Given the description of an element on the screen output the (x, y) to click on. 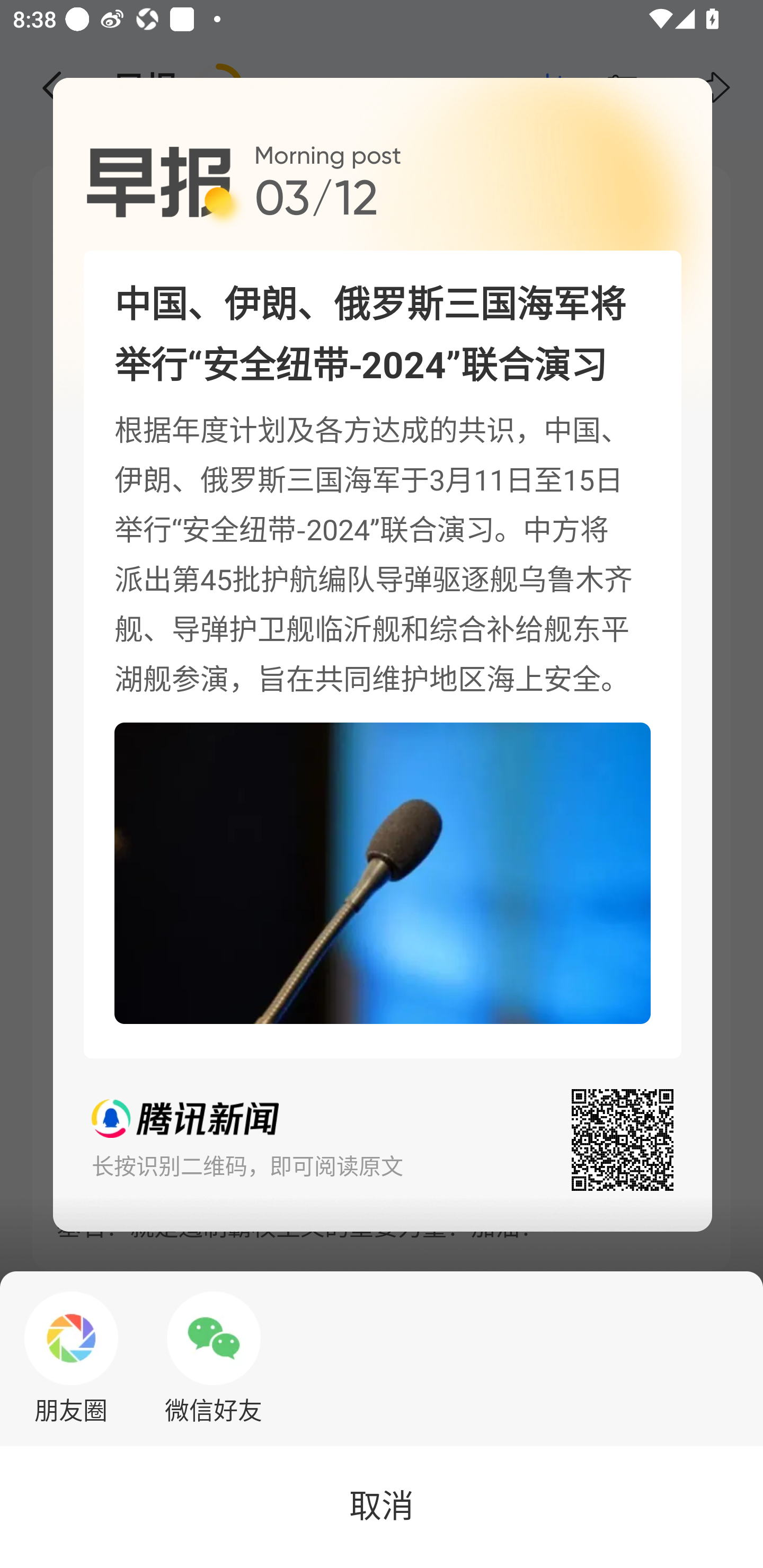
朋友圈 (71, 1358)
微信好友 (213, 1358)
取消 (381, 1506)
